Given the description of an element on the screen output the (x, y) to click on. 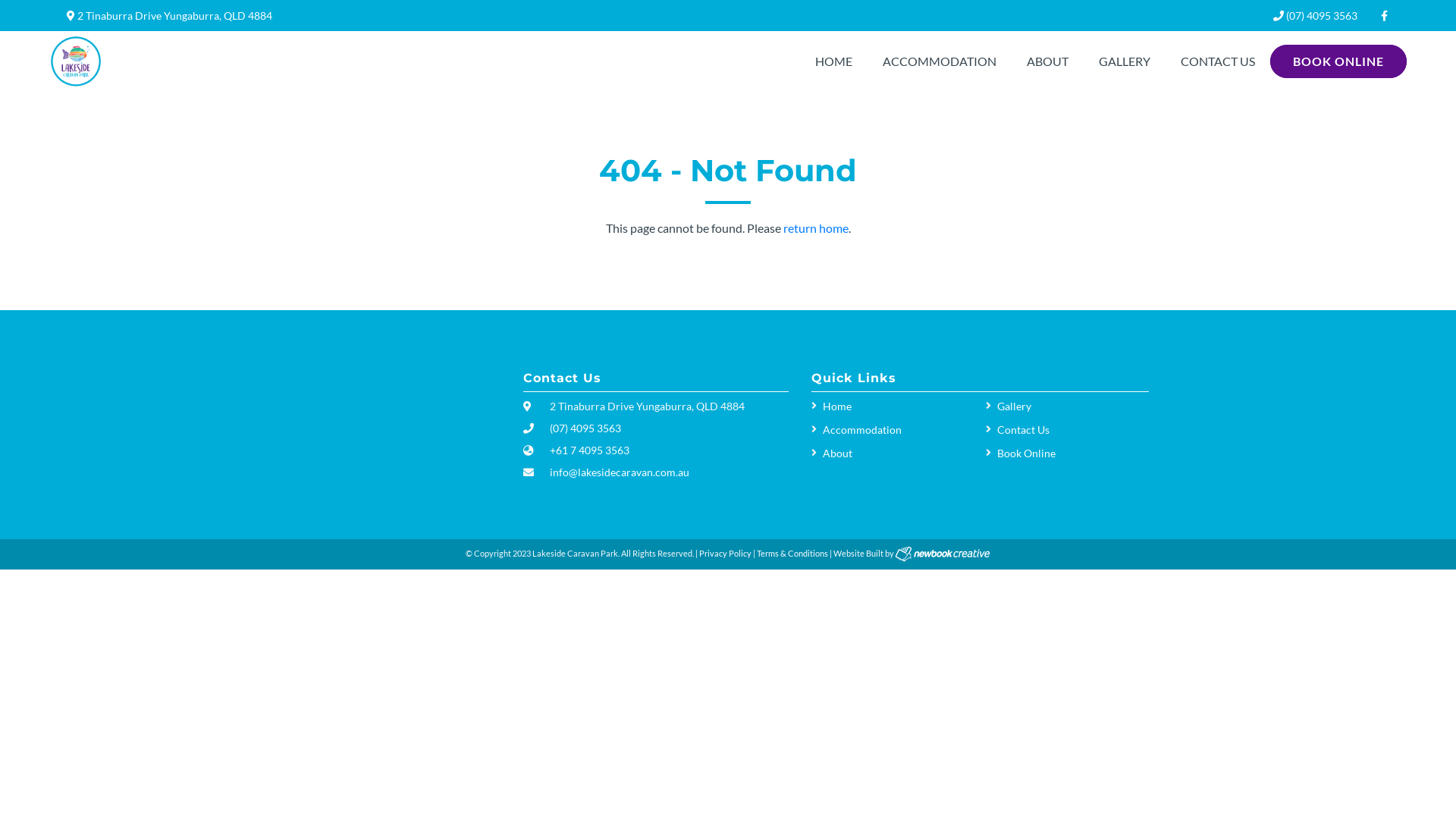
+61 7 4095 3563 Element type: text (589, 449)
ACCOMMODATION Element type: text (939, 61)
Contact Us Element type: text (1067, 429)
return home Element type: text (814, 227)
Gallery Element type: text (1067, 406)
(07) 4095 3563 Element type: text (1315, 15)
ABOUT Element type: text (1047, 61)
GALLERY Element type: text (1124, 61)
Book Online Element type: text (1067, 453)
(07) 4095 3563 Element type: text (585, 427)
About Element type: text (893, 453)
Home Element type: text (893, 406)
Accommodation Element type: text (893, 429)
HOME Element type: text (833, 61)
Privacy Policy Element type: text (725, 553)
info@lakesidecaravan.com.au Element type: text (619, 471)
BOOK ONLINE Element type: text (1338, 61)
Terms & Conditions Element type: text (792, 553)
CONTACT US Element type: text (1217, 61)
